Given the description of an element on the screen output the (x, y) to click on. 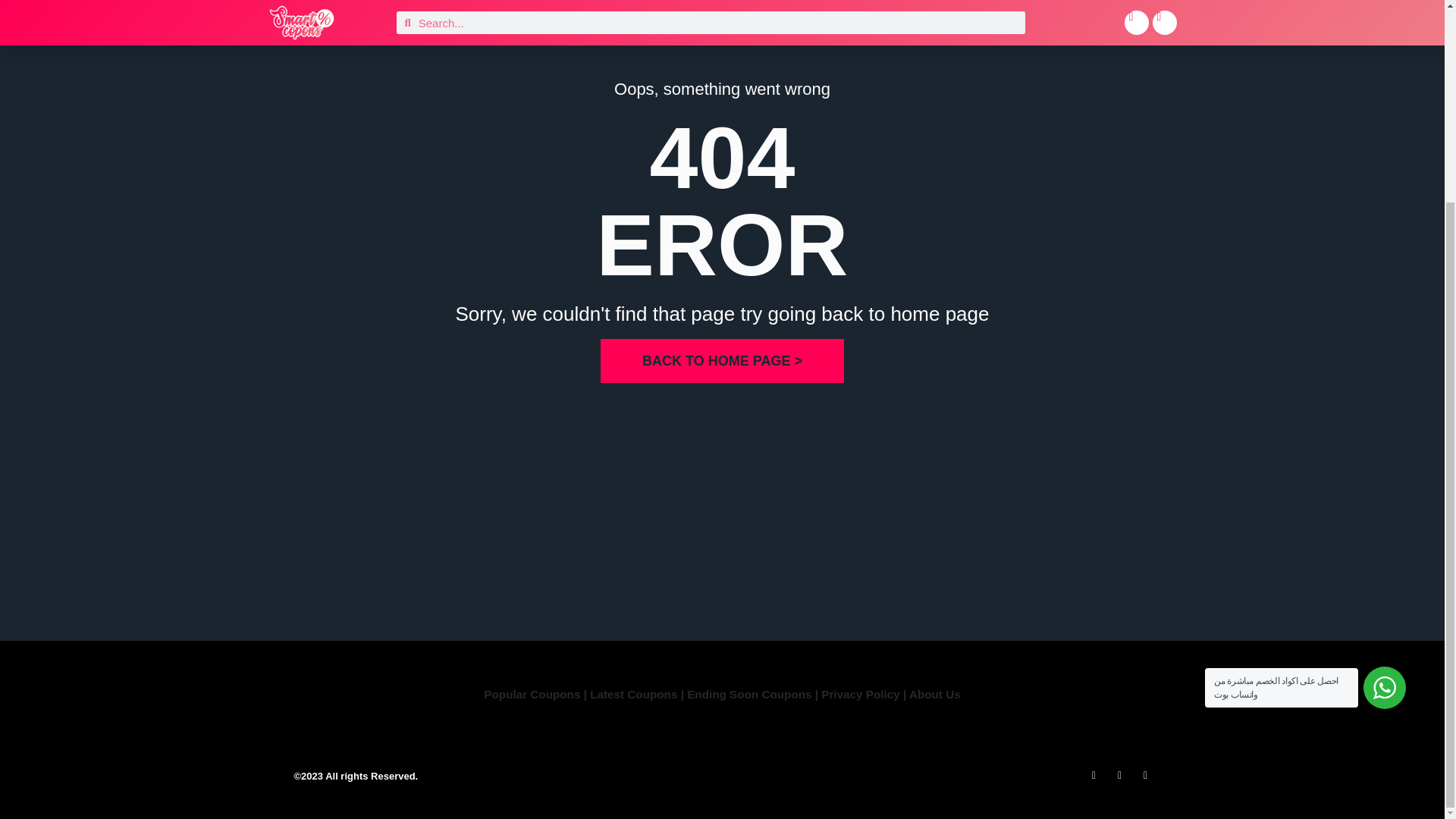
Privacy Policy (860, 694)
Ending Soon Coupons (751, 694)
Popular Coupons (531, 694)
Latest Coupons (633, 694)
About Us (934, 694)
